Given the description of an element on the screen output the (x, y) to click on. 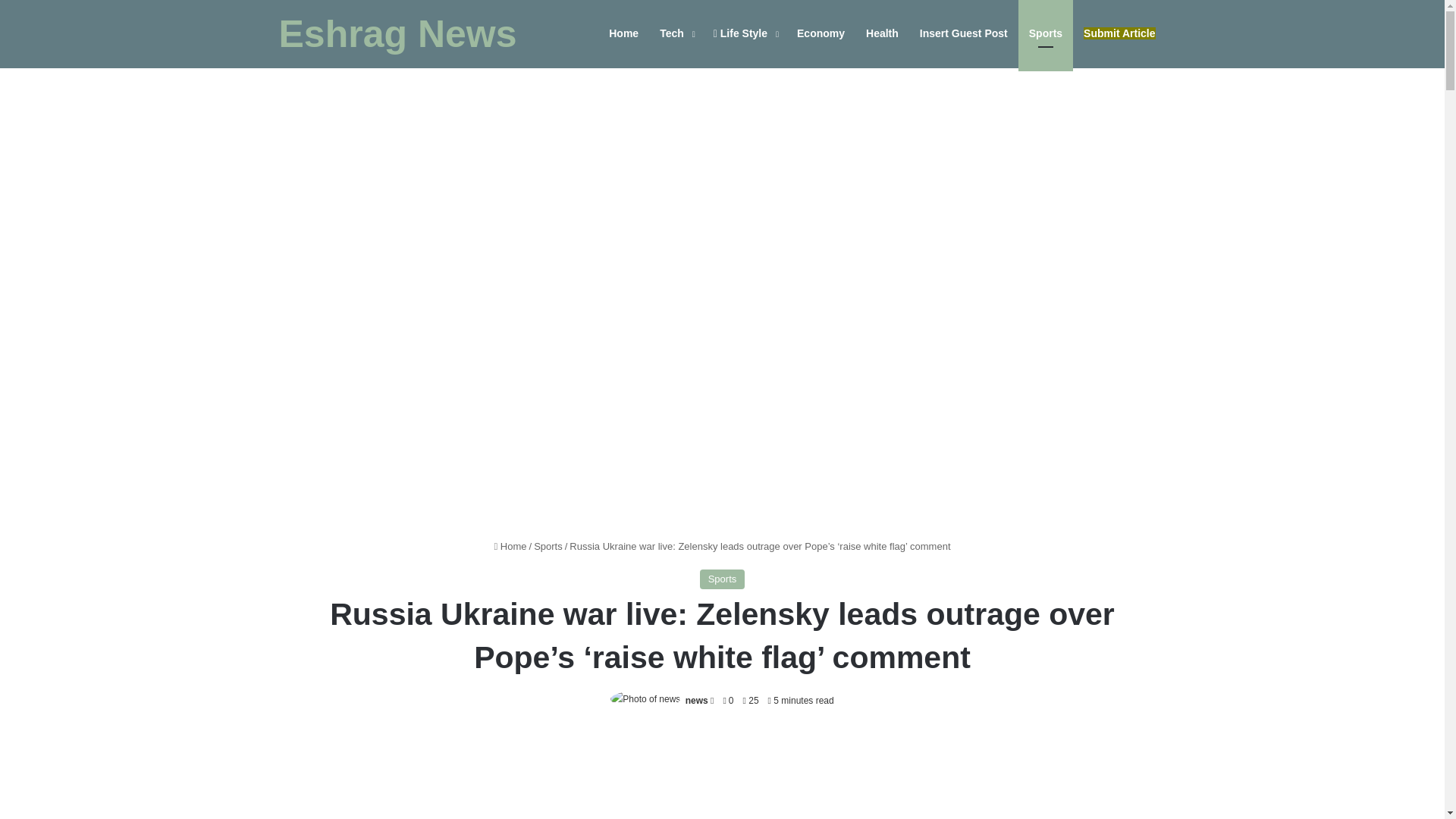
news (696, 700)
Eshrag News (397, 34)
Life Style (744, 33)
news (696, 700)
Insert Guest Post (962, 33)
Submit Article (1119, 33)
Sports (722, 578)
Sports (548, 546)
Home (509, 546)
Eshrag News (397, 34)
